Given the description of an element on the screen output the (x, y) to click on. 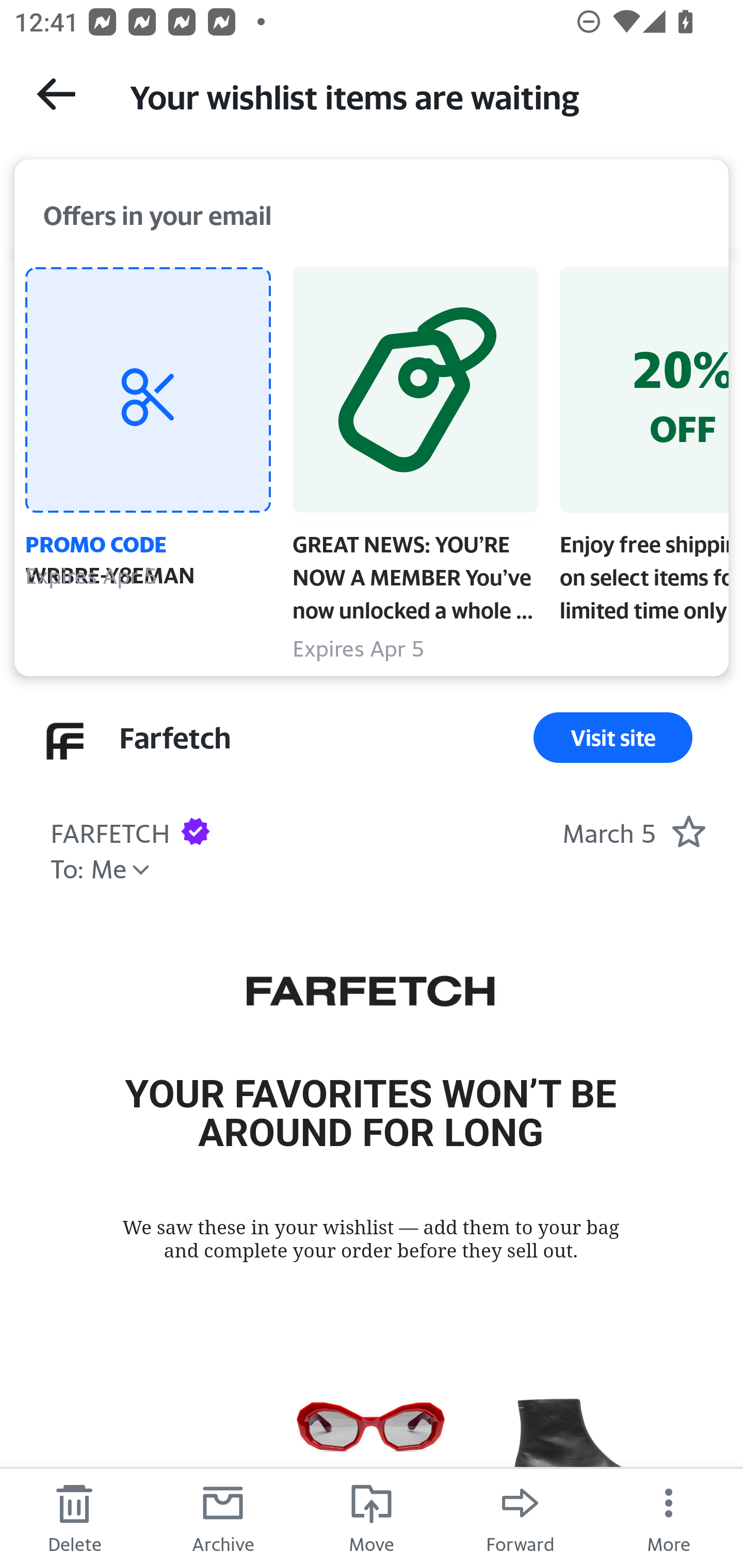
Back (55, 93)
Your wishlist items are waiting (418, 94)
View all messages from sender (64, 740)
Visit site Visit Site Link (612, 737)
Farfetch Sender Farfetch (174, 737)
FARFETCH Sender FARFETCH (110, 830)
Mark as starred. (688, 831)
FARFETCH (370, 994)
AMIRI (370, 1436)
Delete (74, 1517)
Archive (222, 1517)
Move (371, 1517)
Forward (519, 1517)
More (668, 1517)
